Given the description of an element on the screen output the (x, y) to click on. 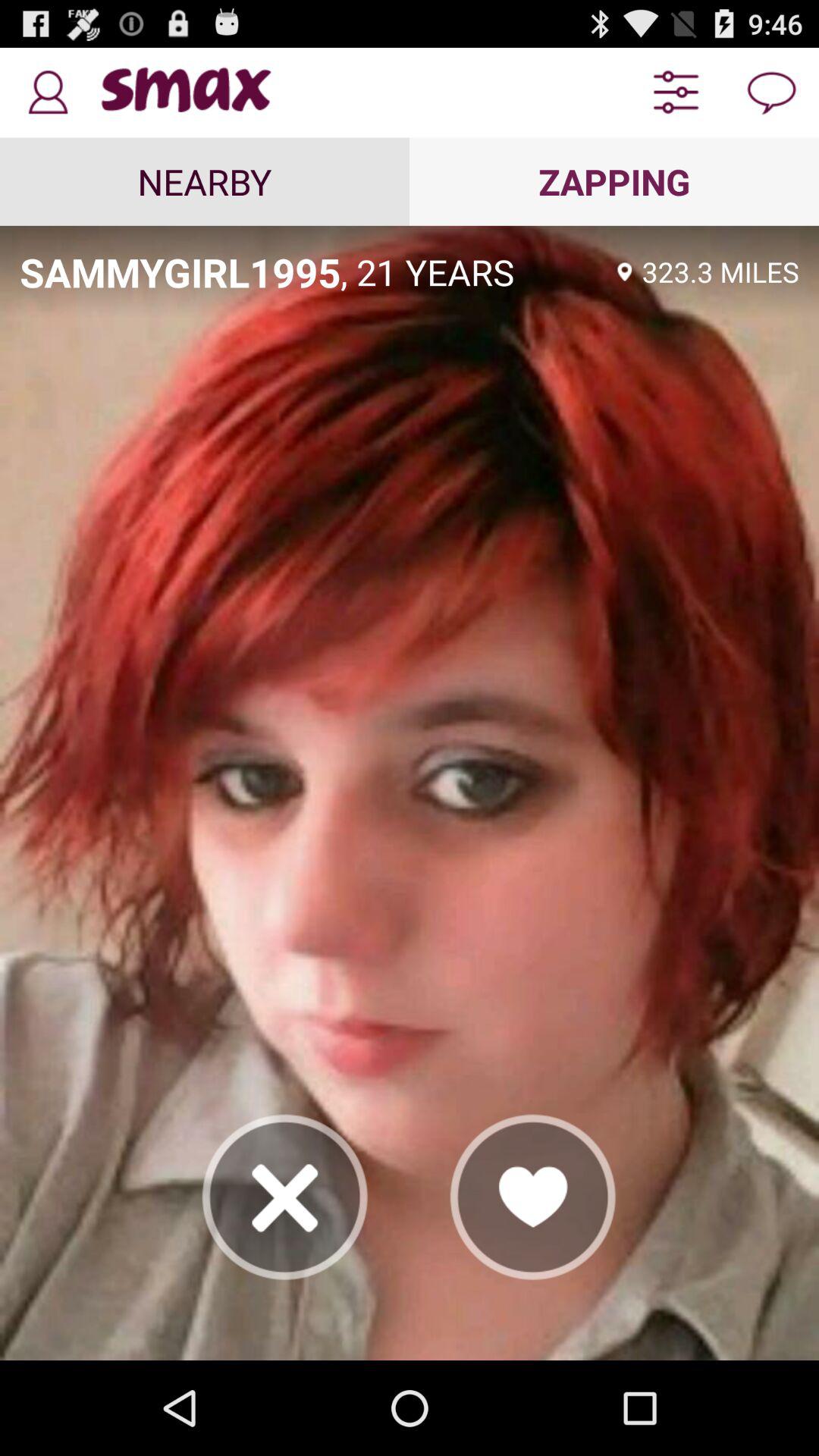
more options (675, 92)
